Given the description of an element on the screen output the (x, y) to click on. 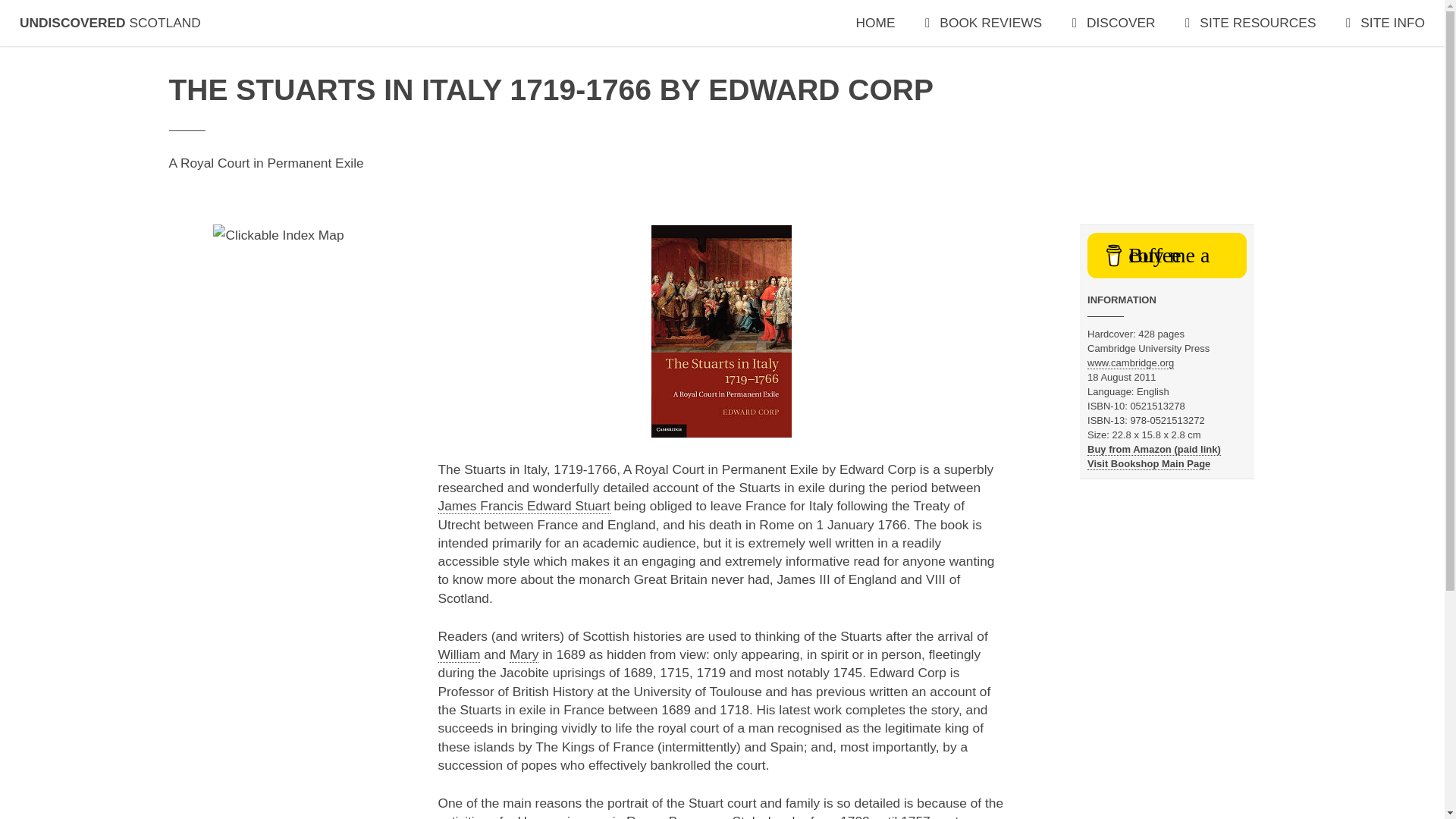
HOME (875, 22)
BOOK REVIEWS (983, 22)
UNDISCOVERED SCOTLAND (110, 22)
DISCOVER (1113, 22)
